Given the description of an element on the screen output the (x, y) to click on. 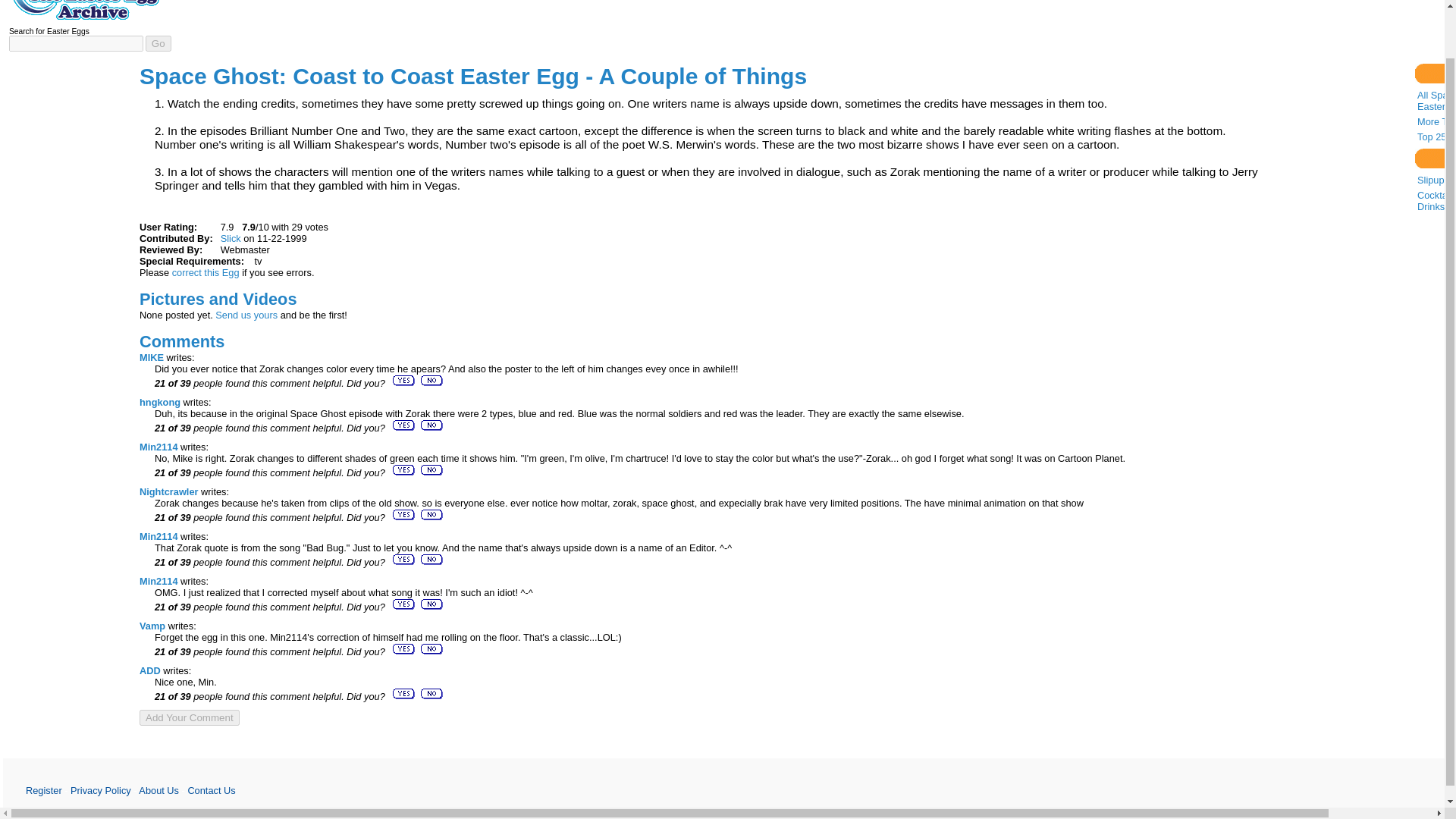
Add Your Comment (189, 717)
Go (158, 43)
